Given the description of an element on the screen output the (x, y) to click on. 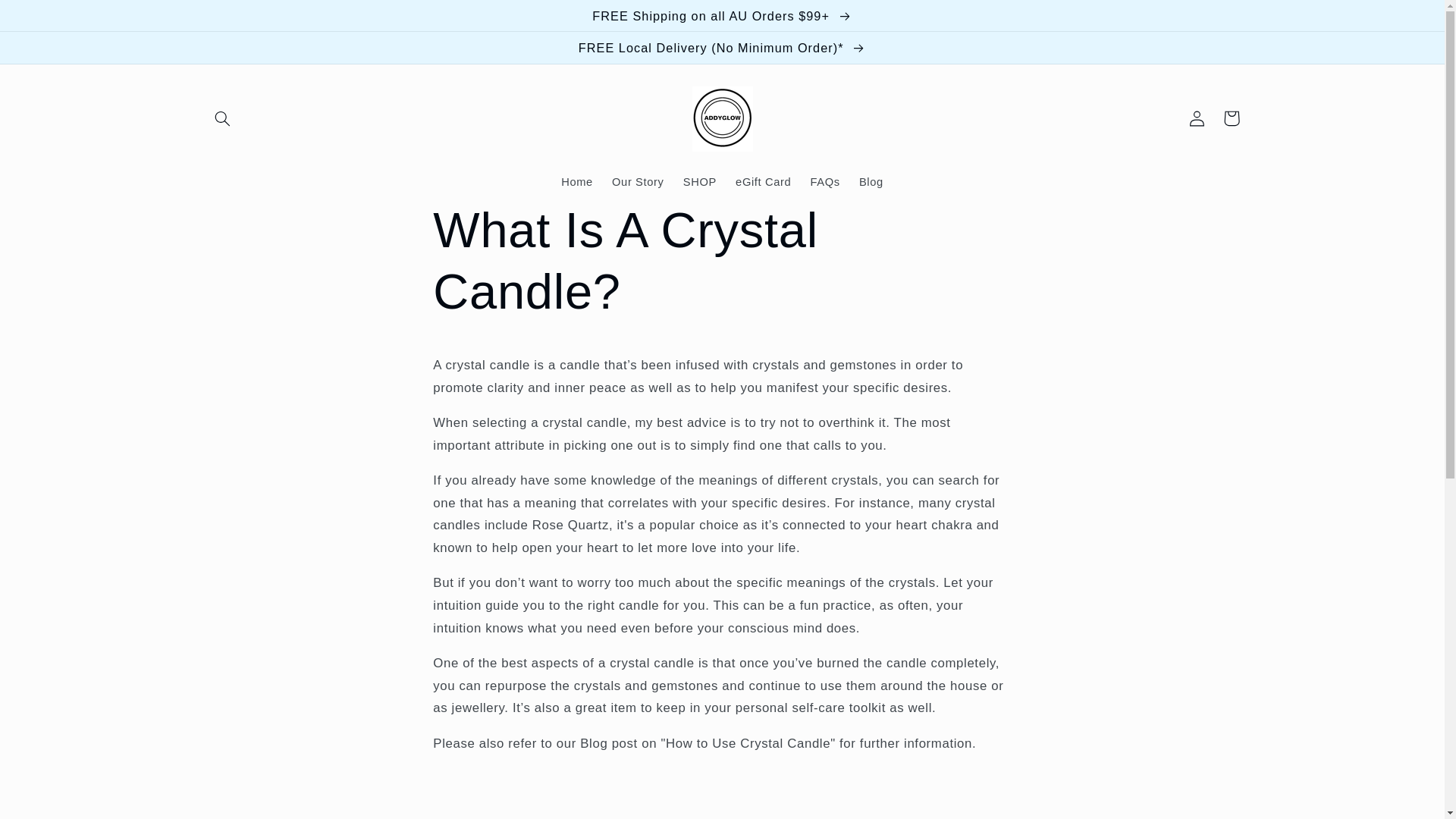
Blog (870, 182)
FAQs (824, 182)
Skip to content (48, 18)
Our Story (637, 182)
eGift Card (762, 182)
Log in (1196, 117)
Home (576, 182)
Cart (1231, 117)
SHOP (698, 182)
